Given the description of an element on the screen output the (x, y) to click on. 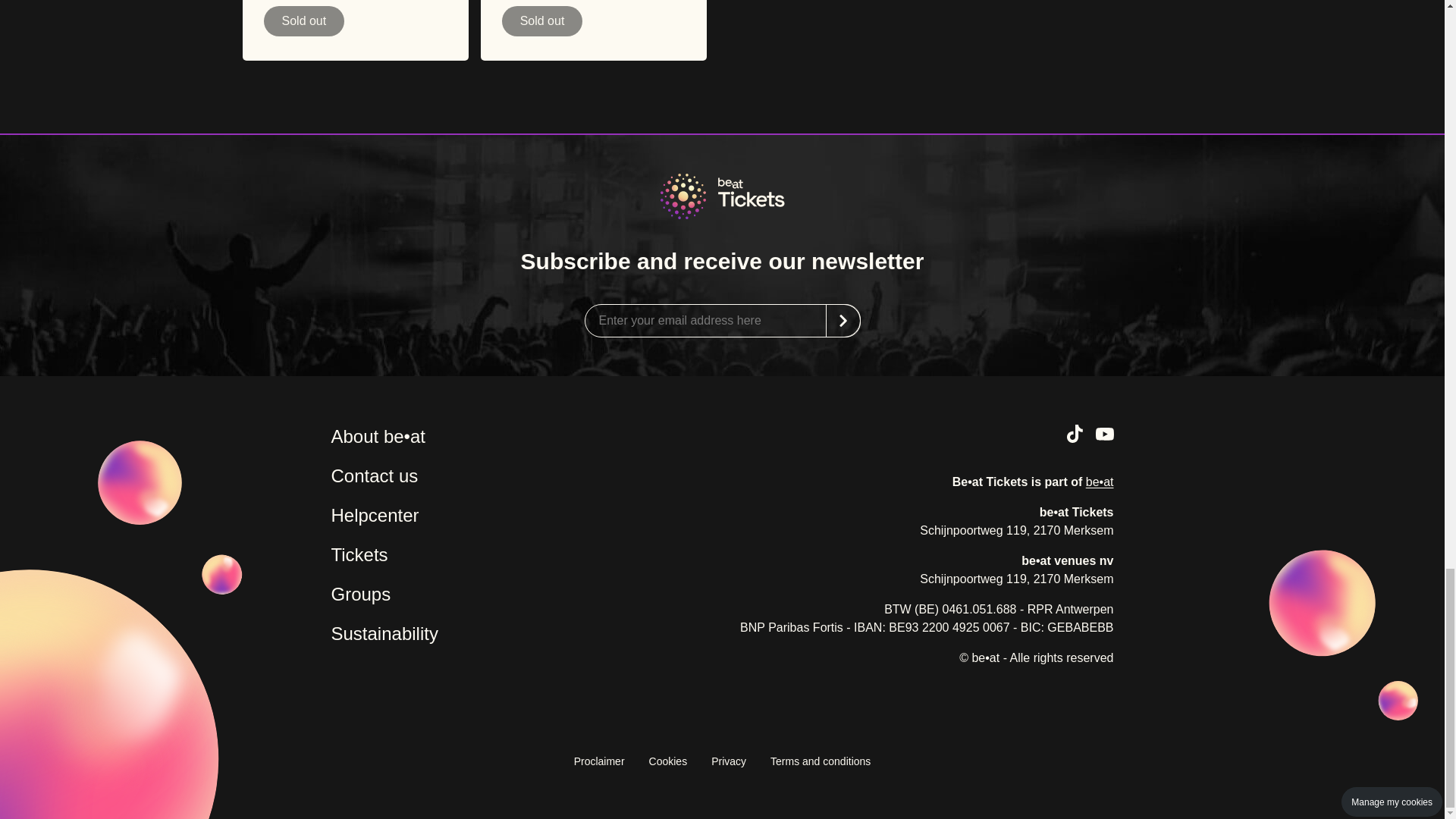
Sold out (542, 20)
Contact us (373, 475)
Sold out (304, 20)
Helpcenter (374, 514)
